Given the description of an element on the screen output the (x, y) to click on. 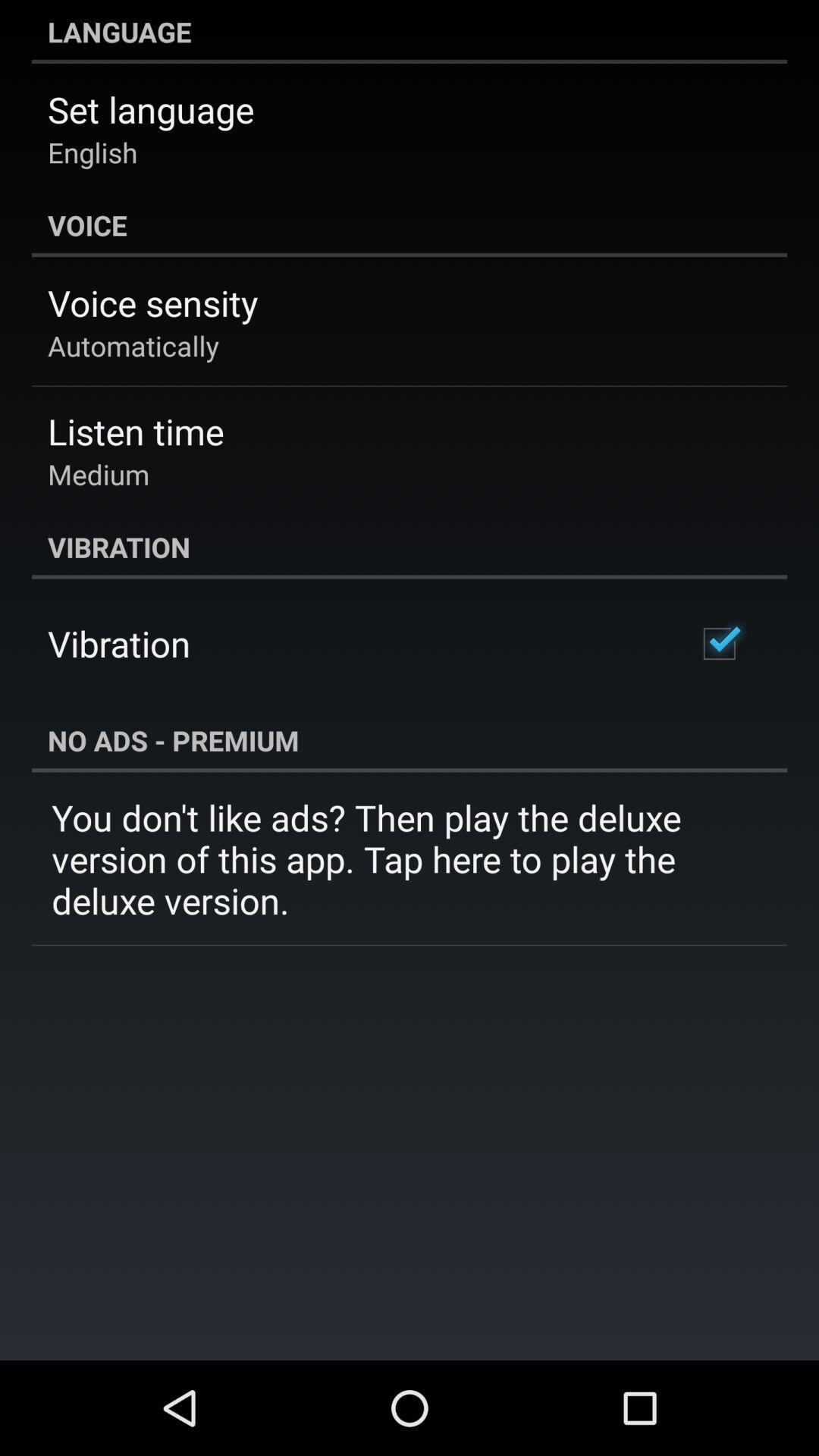
jump until english item (92, 152)
